Given the description of an element on the screen output the (x, y) to click on. 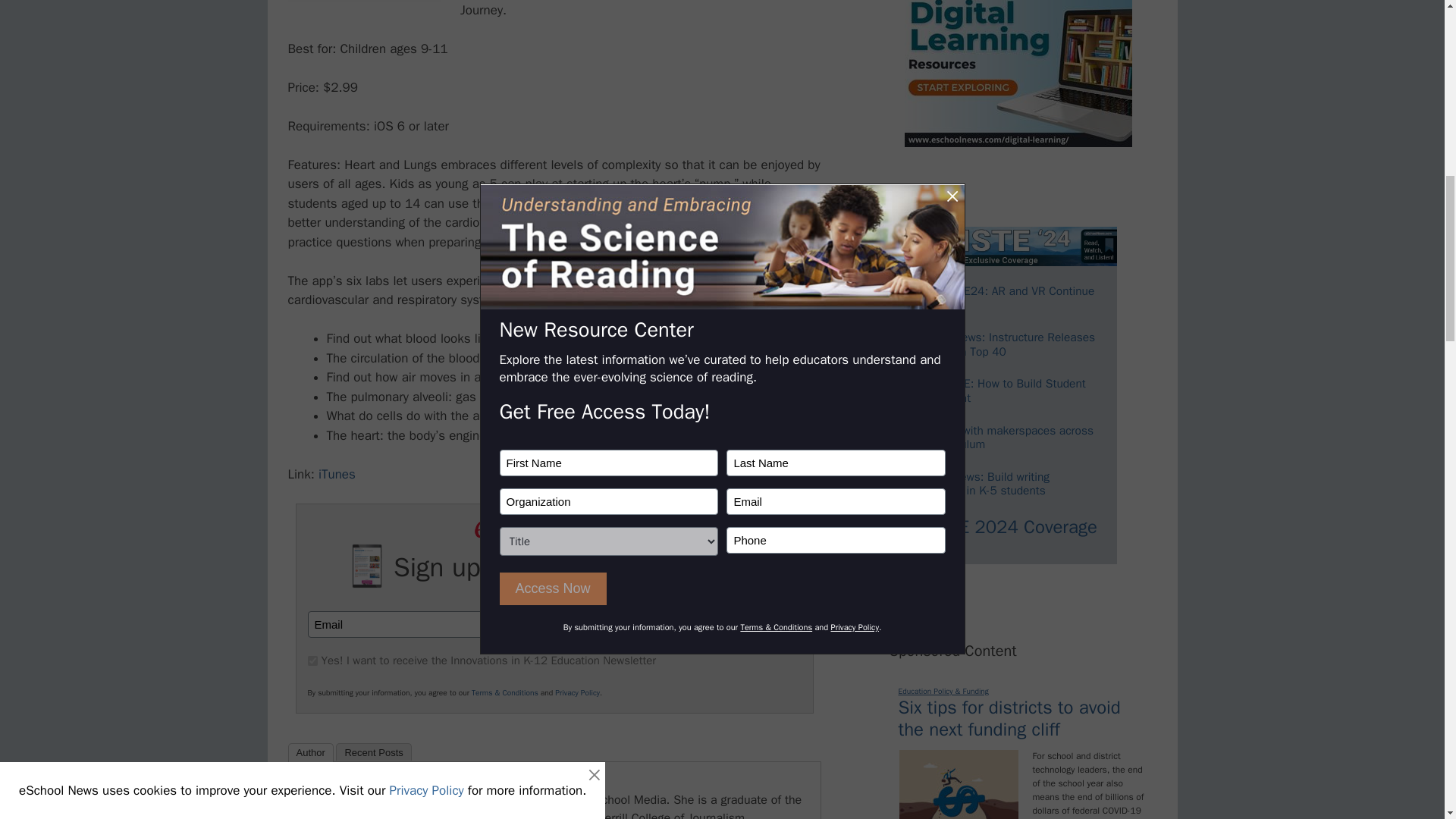
SUBSCRIBE (727, 624)
100 (312, 660)
